Given the description of an element on the screen output the (x, y) to click on. 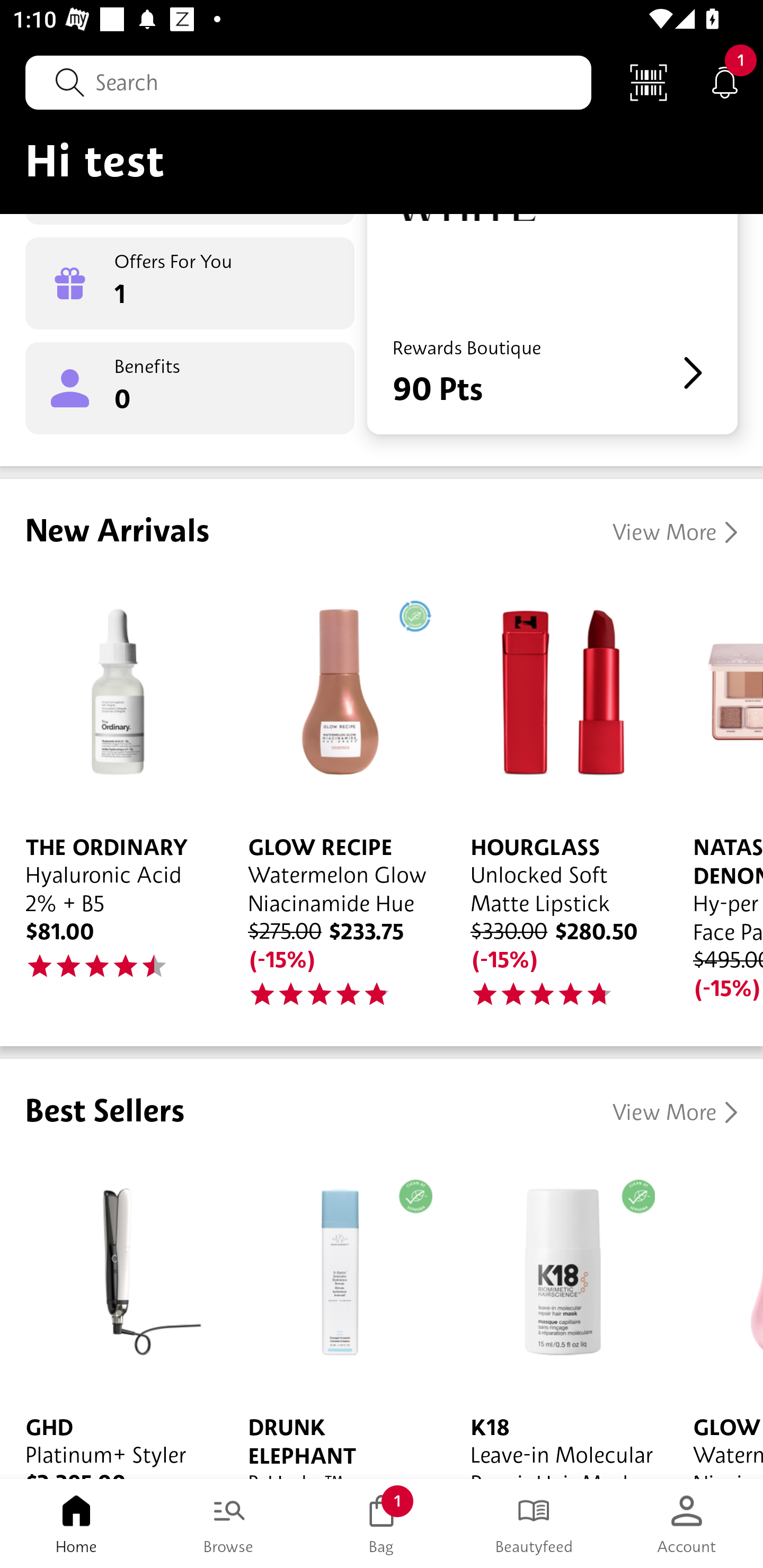
Scan Code (648, 81)
Notifications (724, 81)
Search (308, 81)
Rewards Boutique 90 Pts (552, 323)
Offers For You 1 (189, 282)
Benefits 0 (189, 387)
View More (674, 532)
THE ORDINARY Hyaluronic Acid 2% + B5 $81.00 45.0 (111, 791)
View More (674, 1112)
GHD Platinum+ Styler $2,295.00 (111, 1316)
DRUNK ELEPHANT B-Hydra™ Intensive Hydration Serum (333, 1316)
K18 Leave-in Molecular Repair Hair Mask (555, 1316)
Browse (228, 1523)
Bag 1 Bag (381, 1523)
Beautyfeed (533, 1523)
Account (686, 1523)
